Given the description of an element on the screen output the (x, y) to click on. 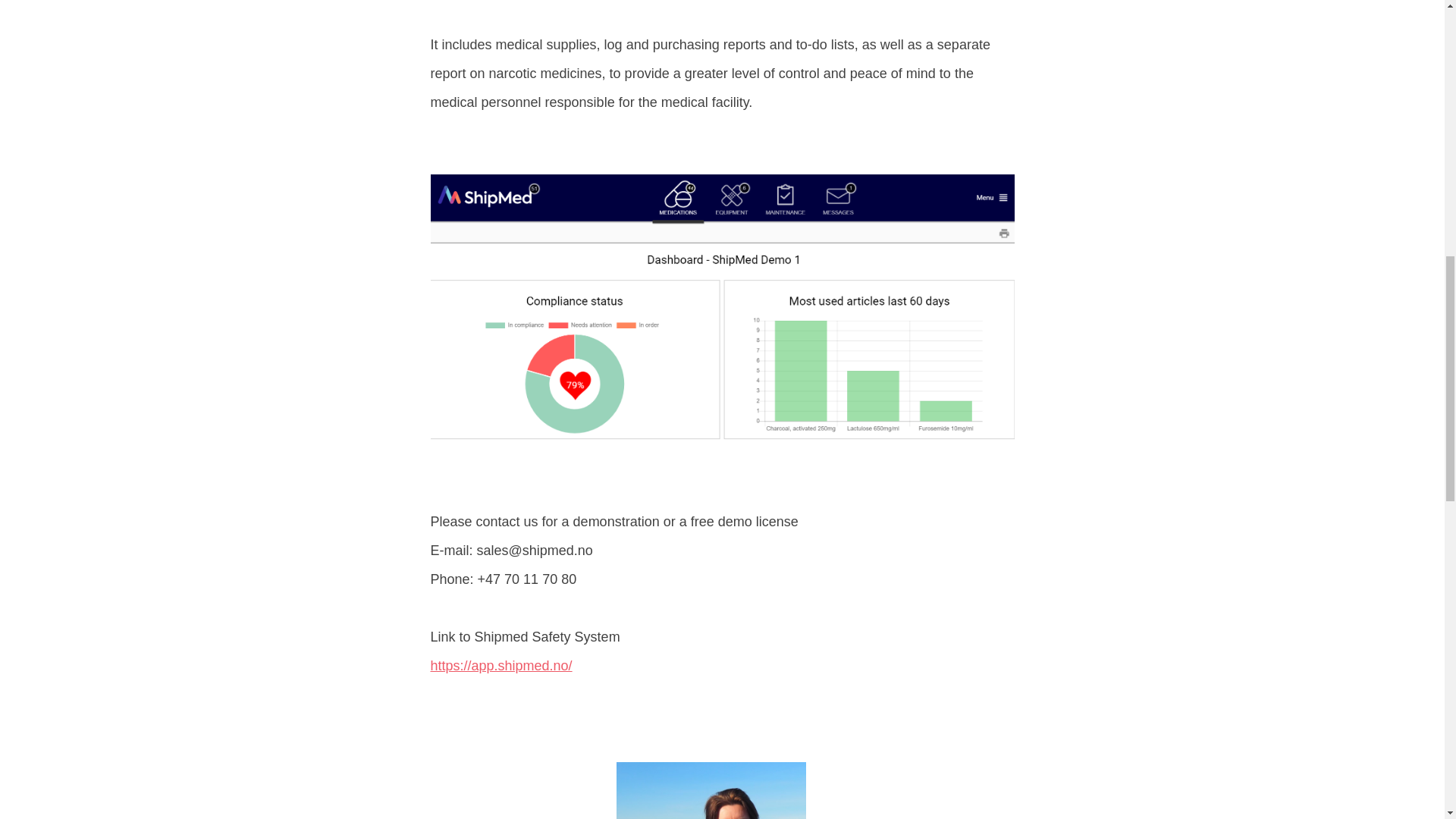
Shipmed Safety System (501, 665)
